Given the description of an element on the screen output the (x, y) to click on. 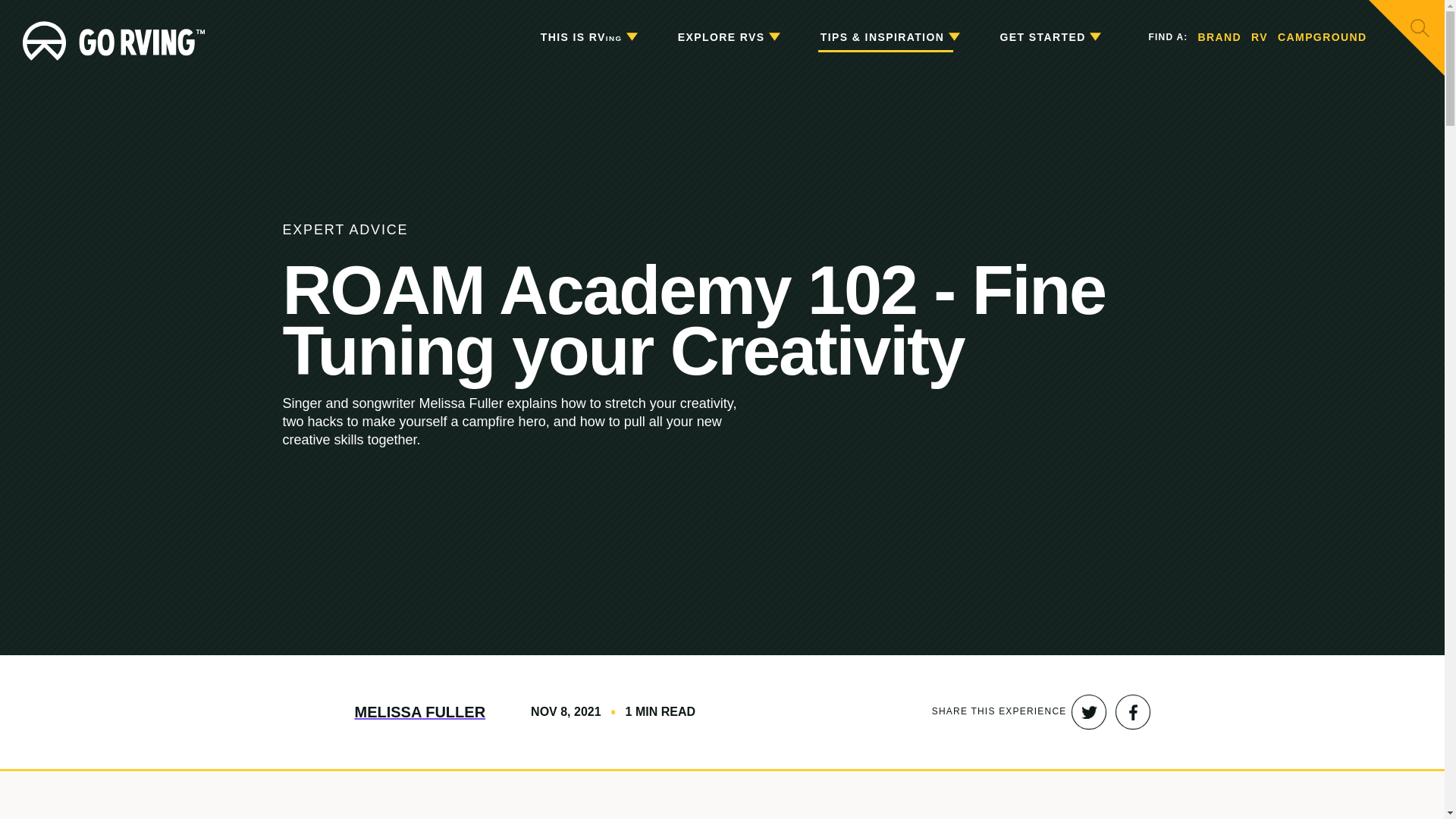
GoRVing (114, 37)
THIS IS RVING (588, 38)
RV (1259, 38)
BRAND (1219, 38)
EXPLORE RVS (728, 38)
GET STARTED (1049, 38)
Search (1419, 27)
CAMPGROUND (1322, 38)
